Given the description of an element on the screen output the (x, y) to click on. 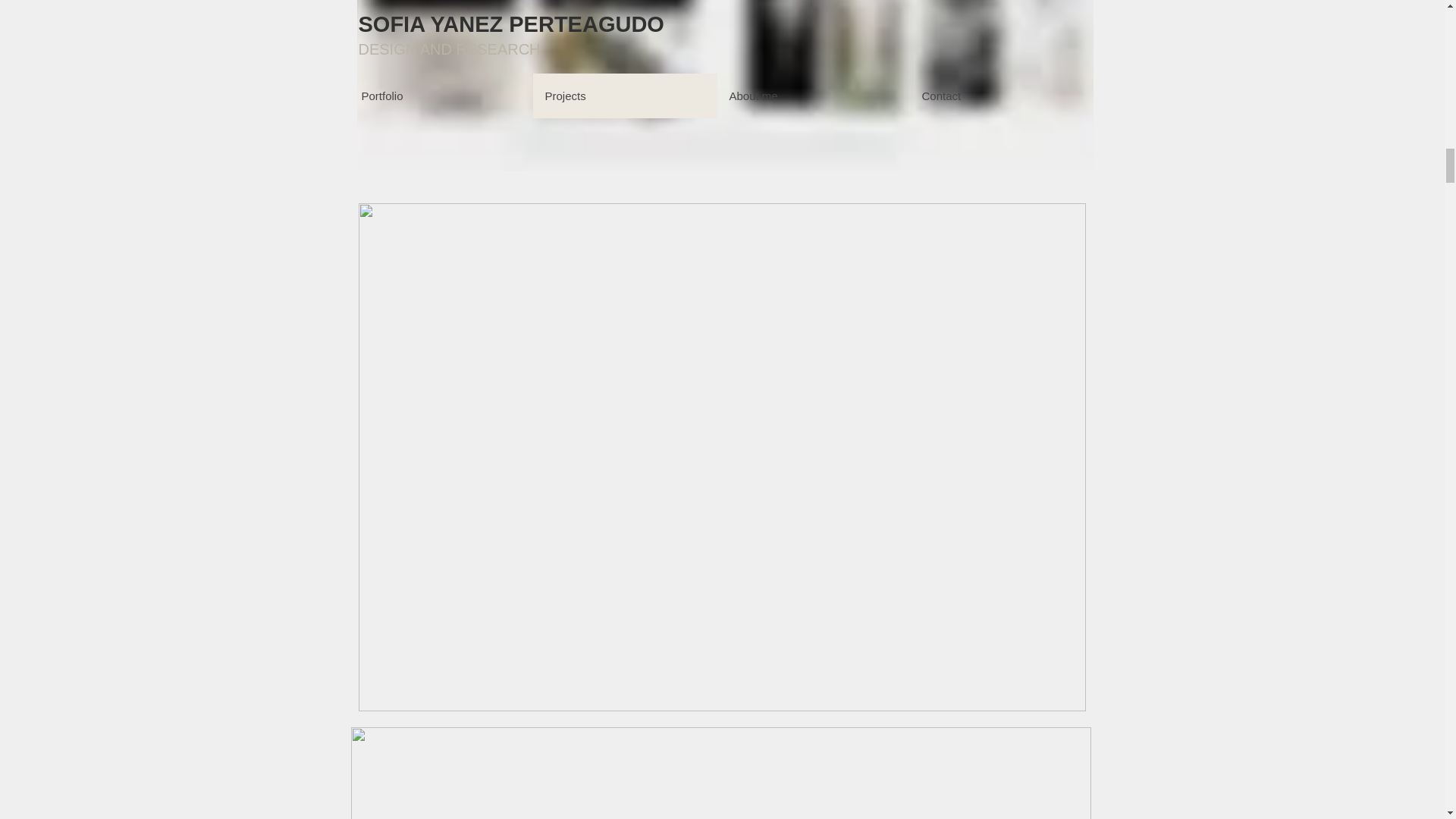
3.jpg (724, 84)
5.jpg (720, 772)
